Given the description of an element on the screen output the (x, y) to click on. 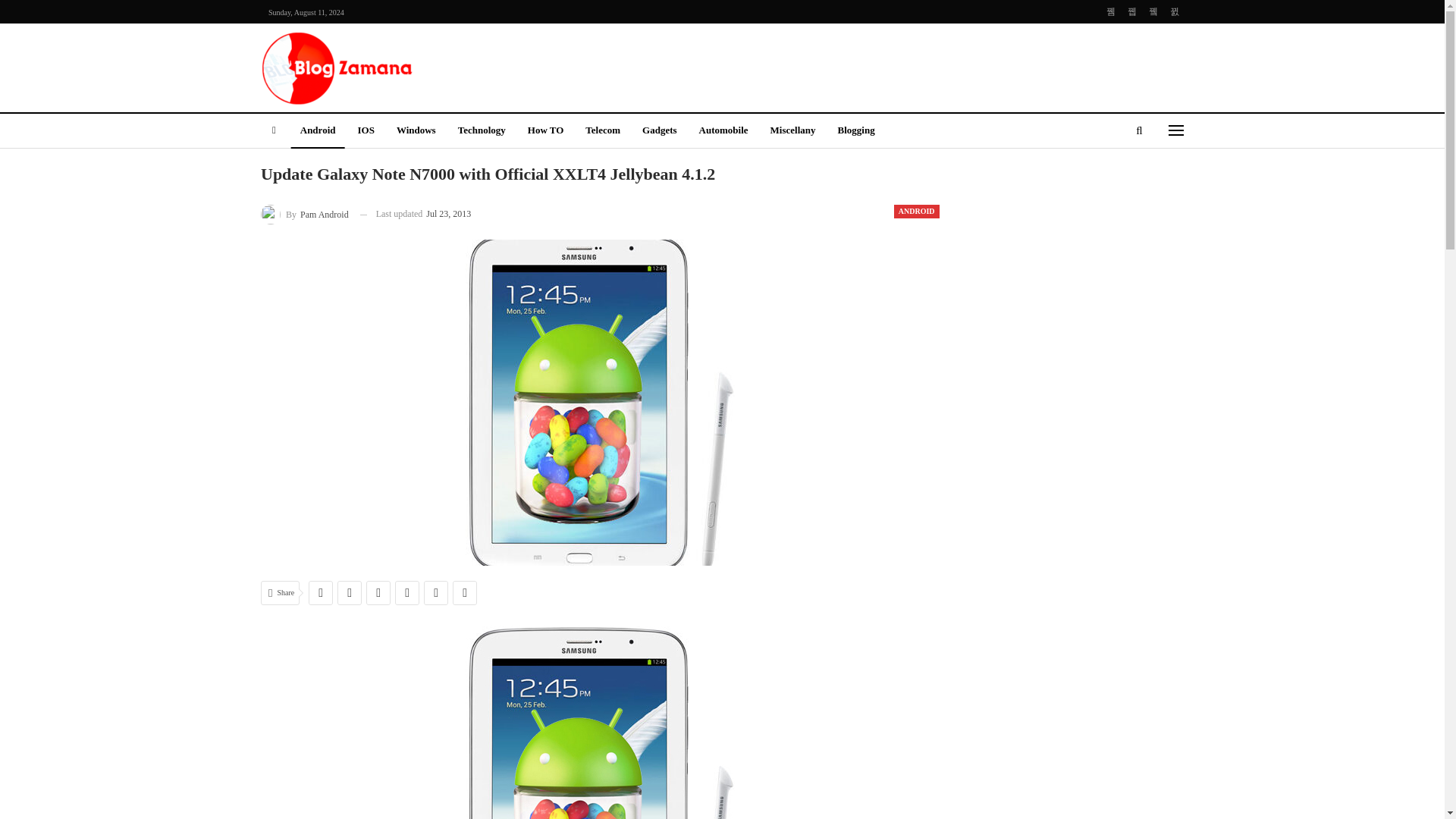
Telecom (602, 131)
Advertisement (878, 65)
Blogging (855, 131)
How TO (545, 131)
Windows (416, 131)
ANDROID (916, 211)
Technology (481, 131)
Automobile (723, 131)
IOS (364, 131)
By Pam Android (304, 213)
